Given the description of an element on the screen output the (x, y) to click on. 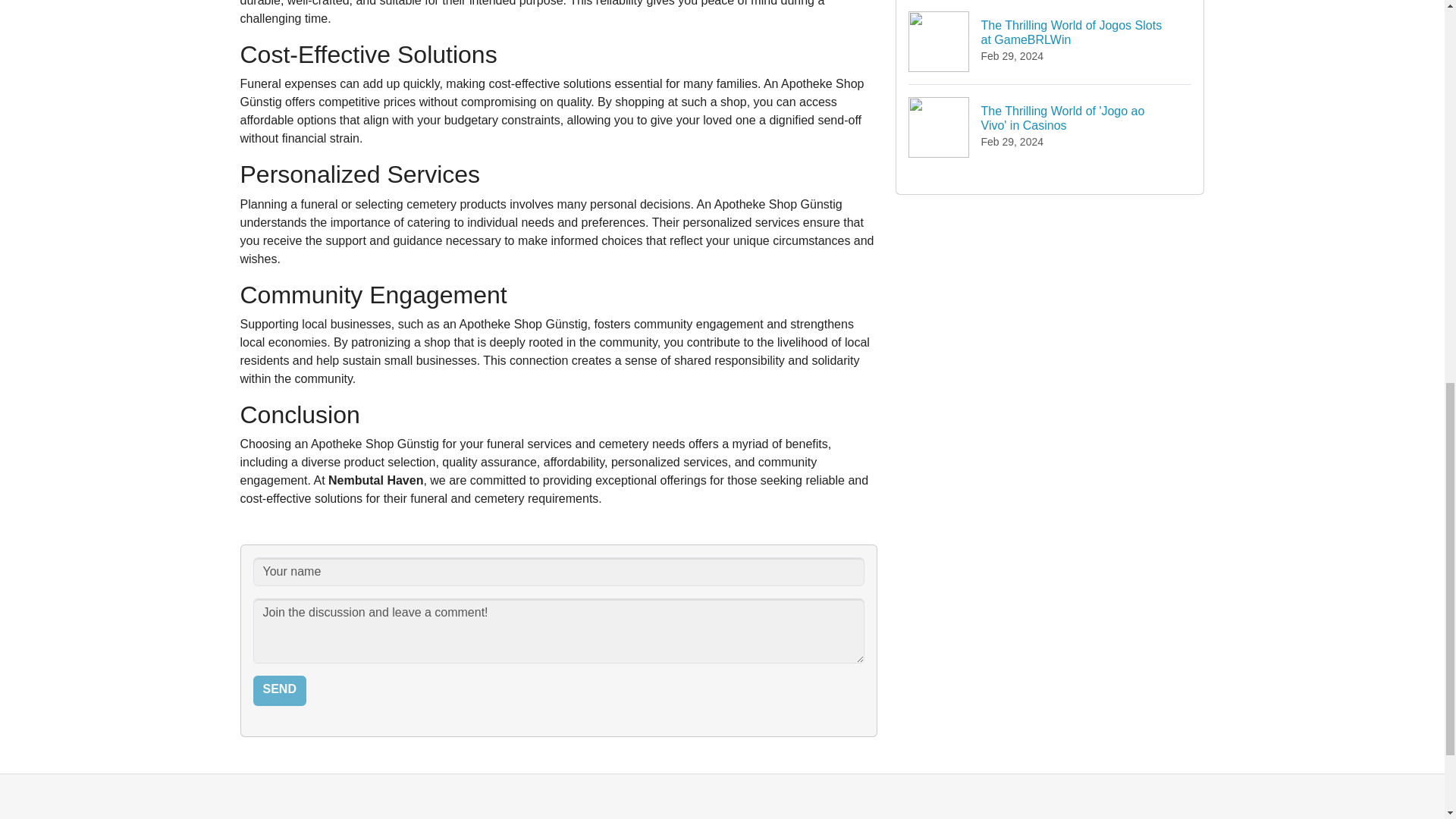
Privacy policy (671, 814)
Send (279, 690)
Terms of service (764, 814)
Send (279, 690)
